Given the description of an element on the screen output the (x, y) to click on. 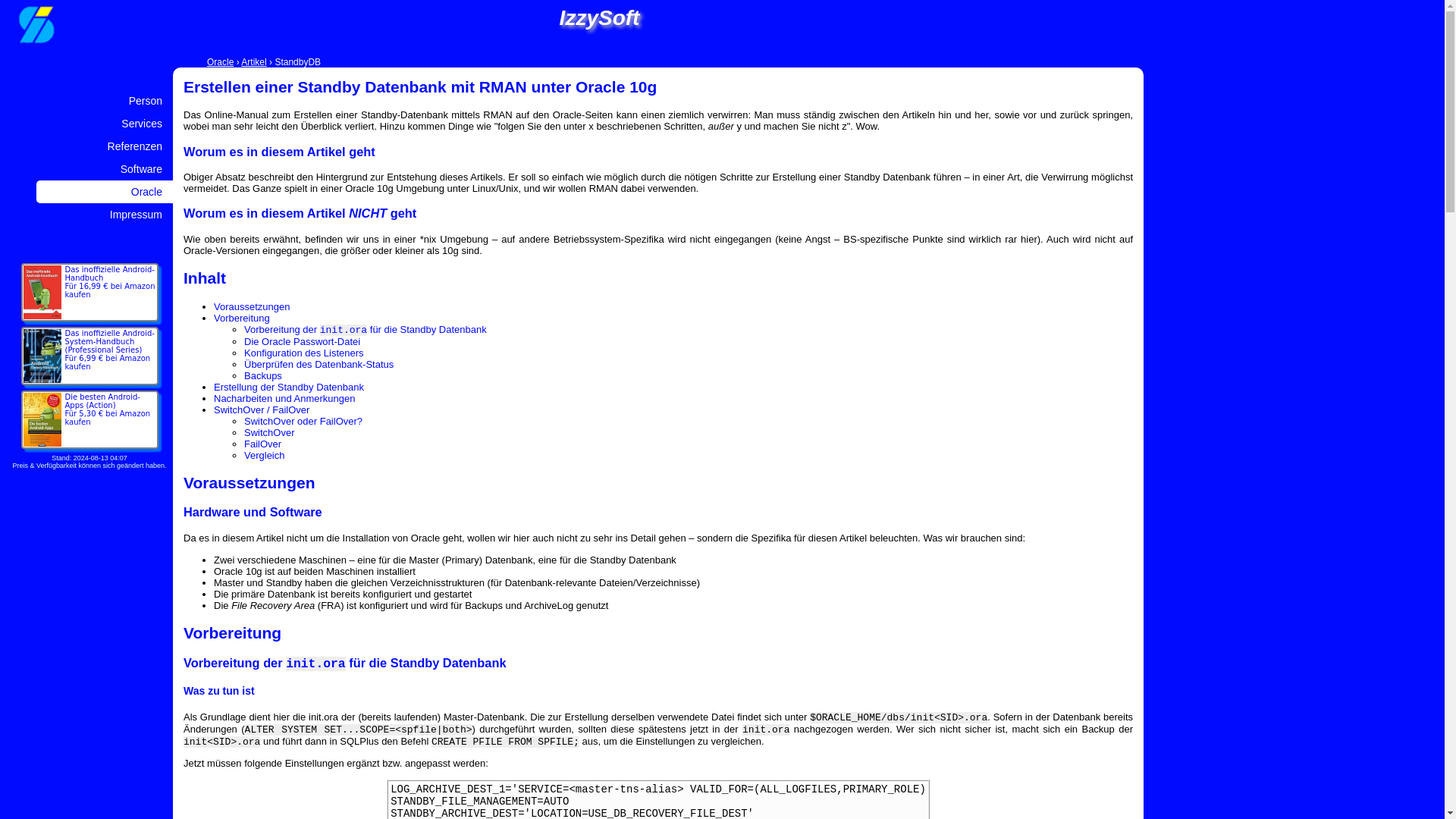
Oracle (219, 61)
SwitchOver (269, 432)
Vergleich (263, 455)
Services (140, 123)
Person (145, 101)
Artikel (253, 61)
Voraussetzungen (251, 306)
Die Oracle Passwort-Datei (301, 341)
Konfiguration des Listeners (304, 352)
Das inoffizielle Android-Handbuch (110, 281)
